Given the description of an element on the screen output the (x, y) to click on. 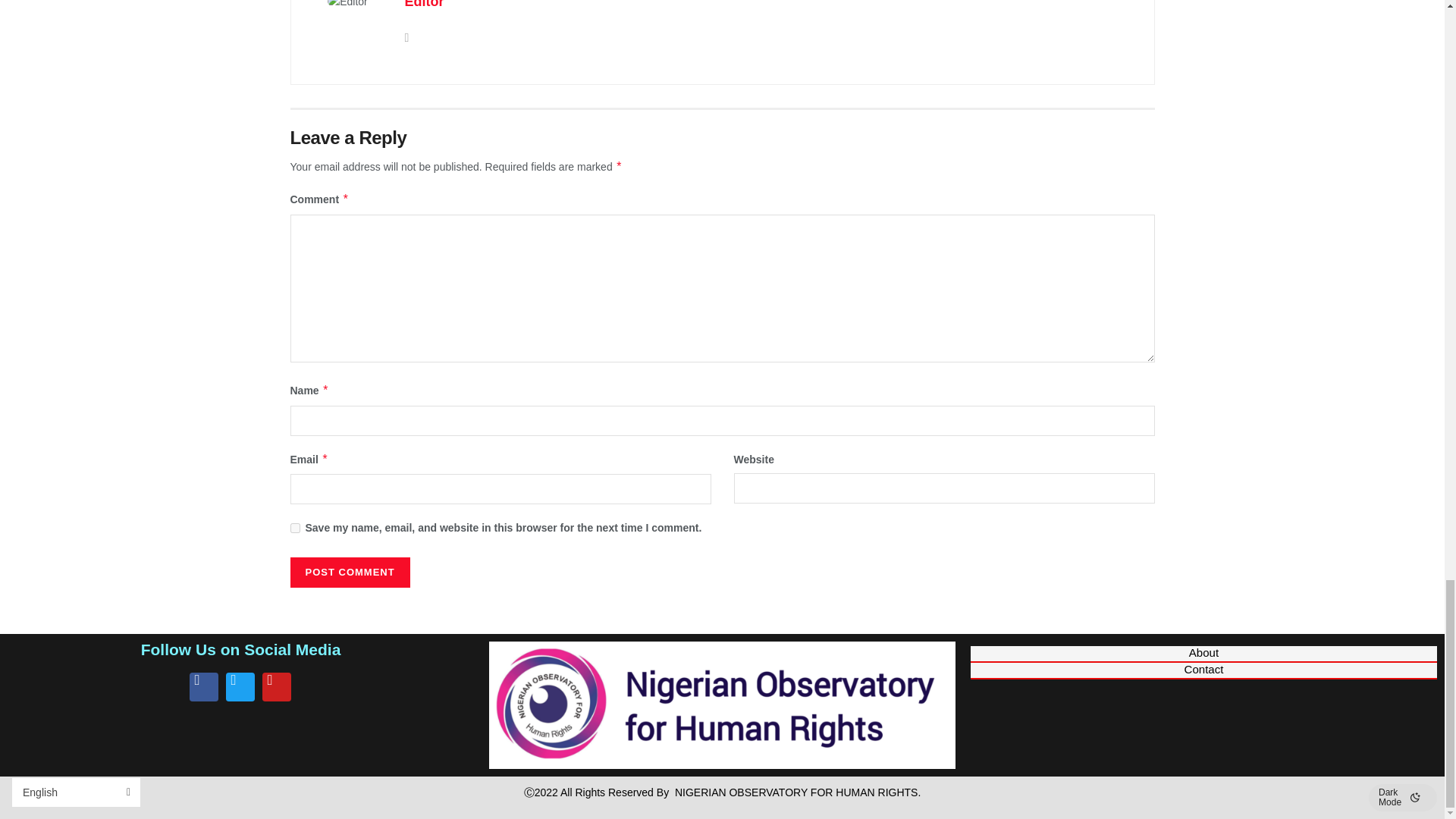
yes (294, 528)
Post Comment (349, 572)
